Given the description of an element on the screen output the (x, y) to click on. 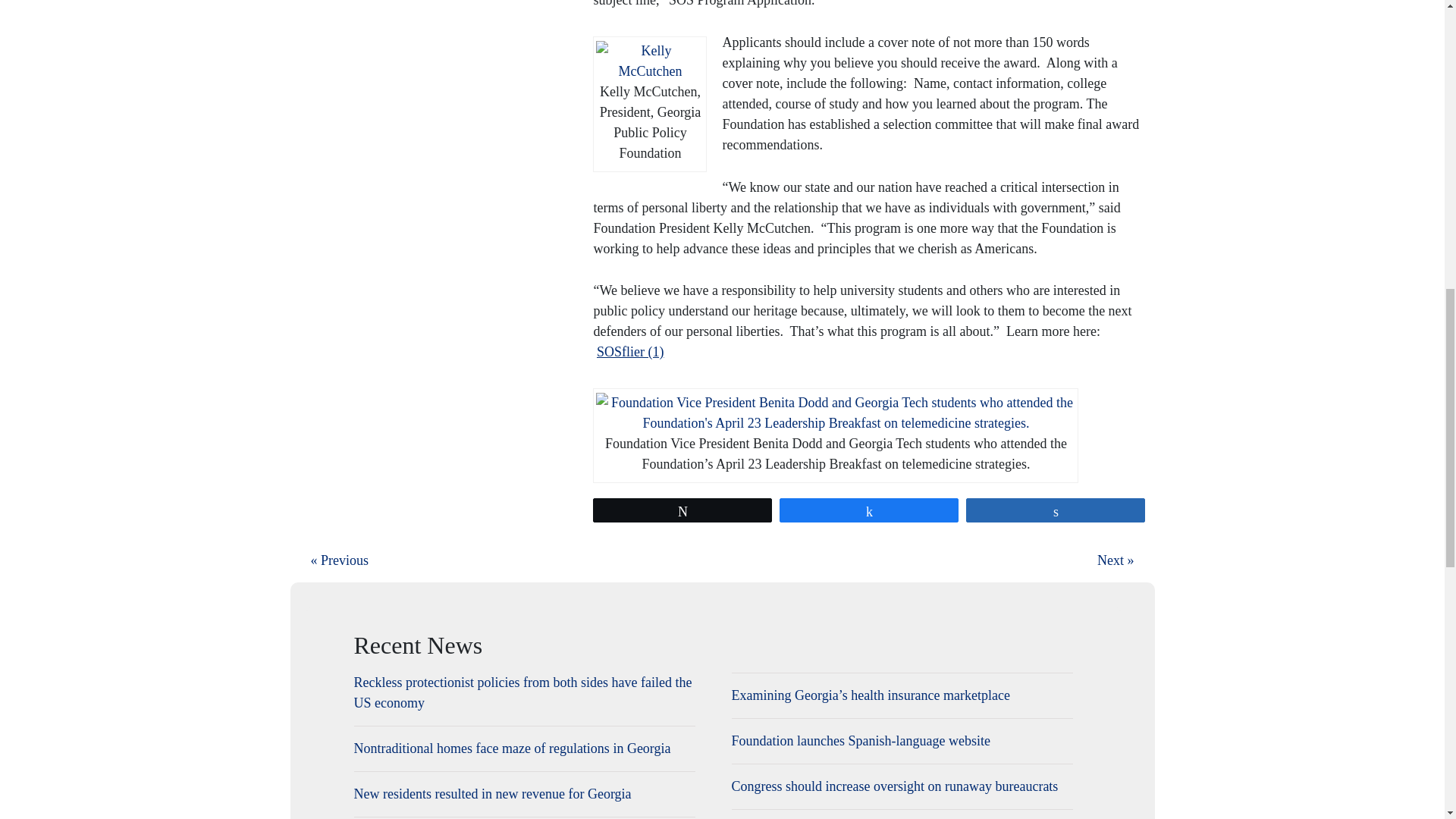
Nontraditional homes face maze of regulations in Georgia (523, 748)
New residents resulted in new revenue for Georgia (523, 793)
